Given the description of an element on the screen output the (x, y) to click on. 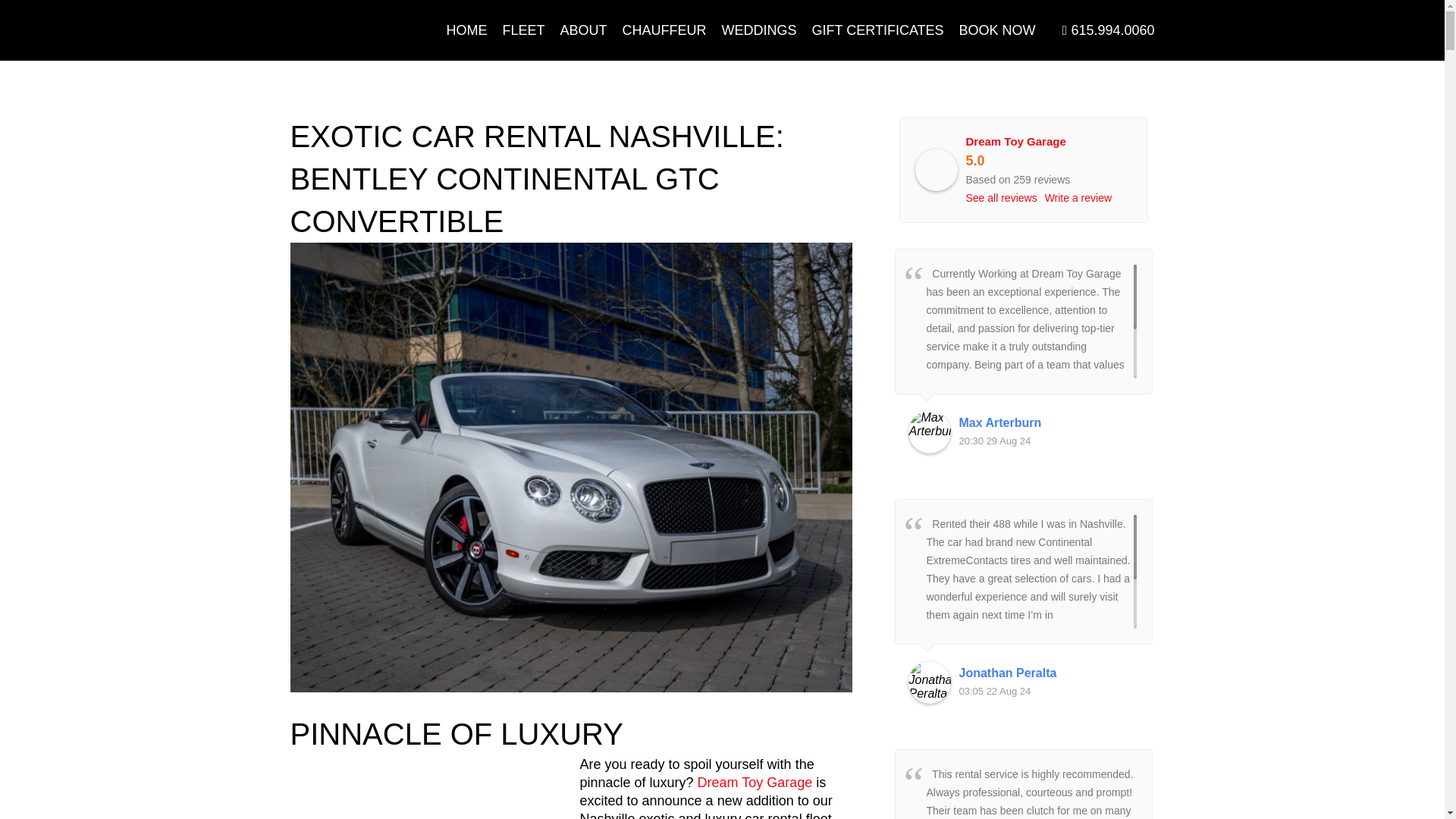
Max Arterburn (1048, 423)
Max Arterburn (929, 432)
HOME (467, 30)
FLEET (524, 30)
ABOUT (583, 30)
GIFT CERTIFICATES (878, 30)
WEDDINGS (759, 30)
BOOK NOW (997, 30)
615.994.0060 (1108, 29)
Jonathan Peralta (929, 681)
